Given the description of an element on the screen output the (x, y) to click on. 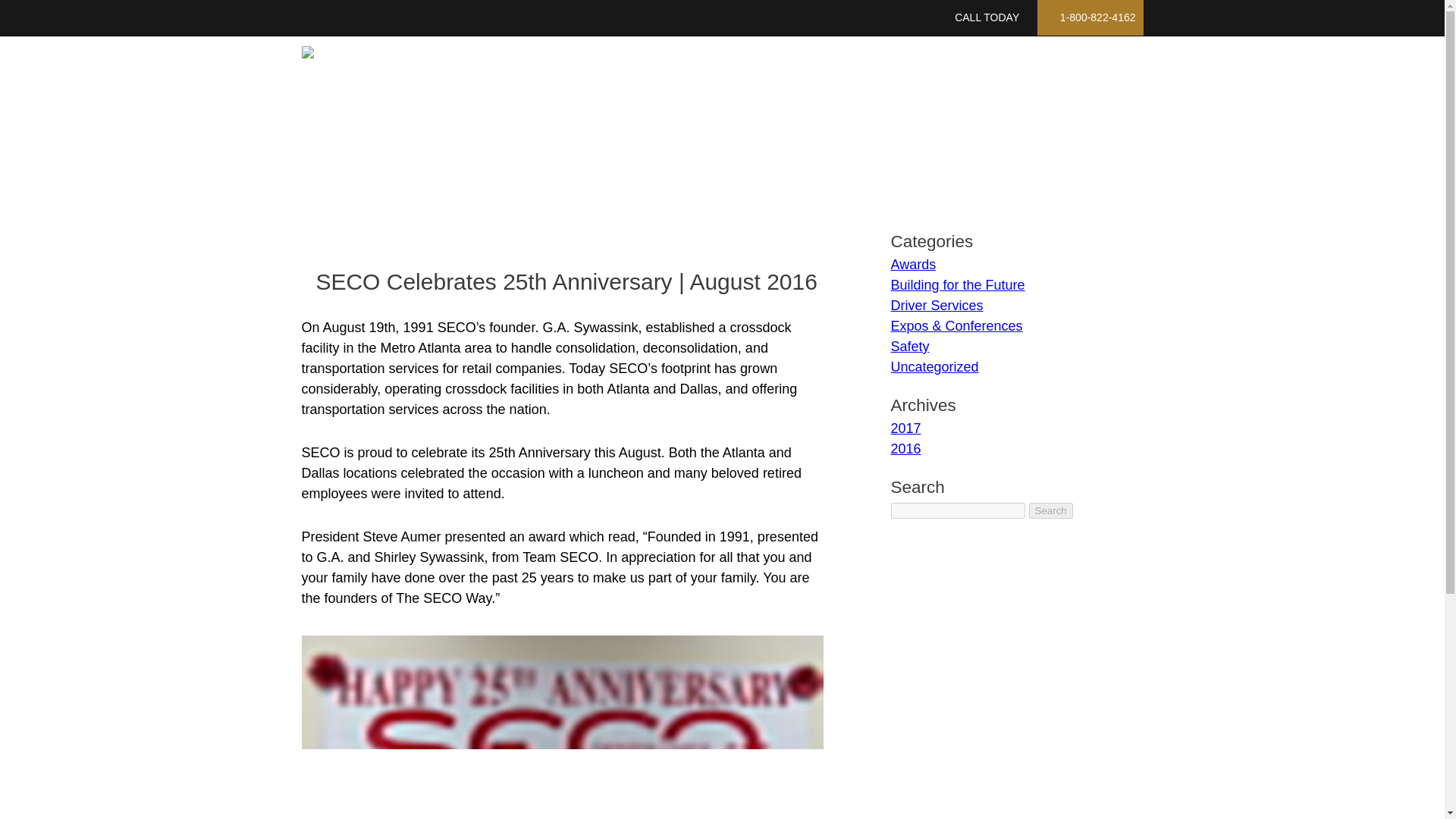
Driver Services (935, 305)
Building for the Future (957, 284)
Safety (908, 346)
About SECO (668, 80)
Driver Services (871, 80)
Locations (978, 80)
2017 (904, 427)
2016 (904, 448)
Search (1051, 510)
Uncategorized (933, 366)
